Given the description of an element on the screen output the (x, y) to click on. 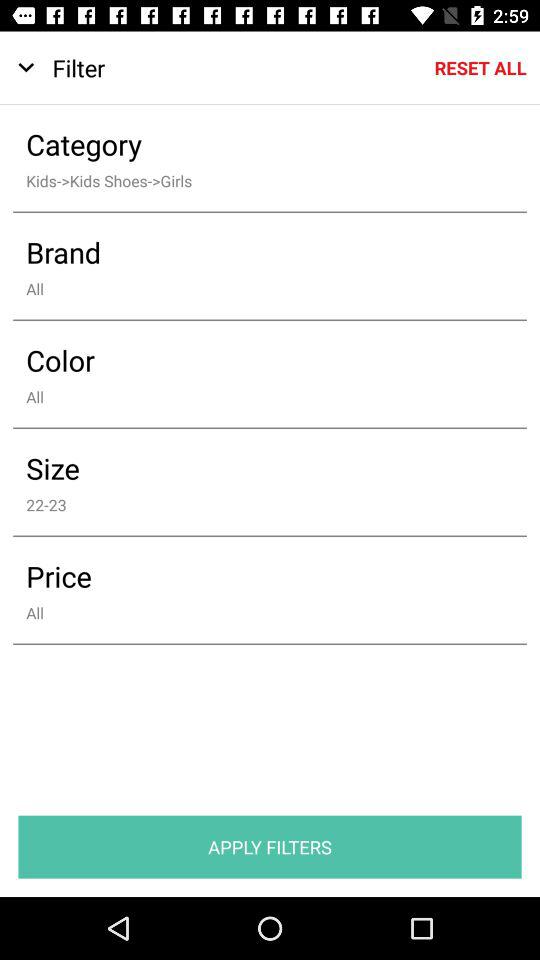
turn off the apply filters icon (269, 846)
